Given the description of an element on the screen output the (x, y) to click on. 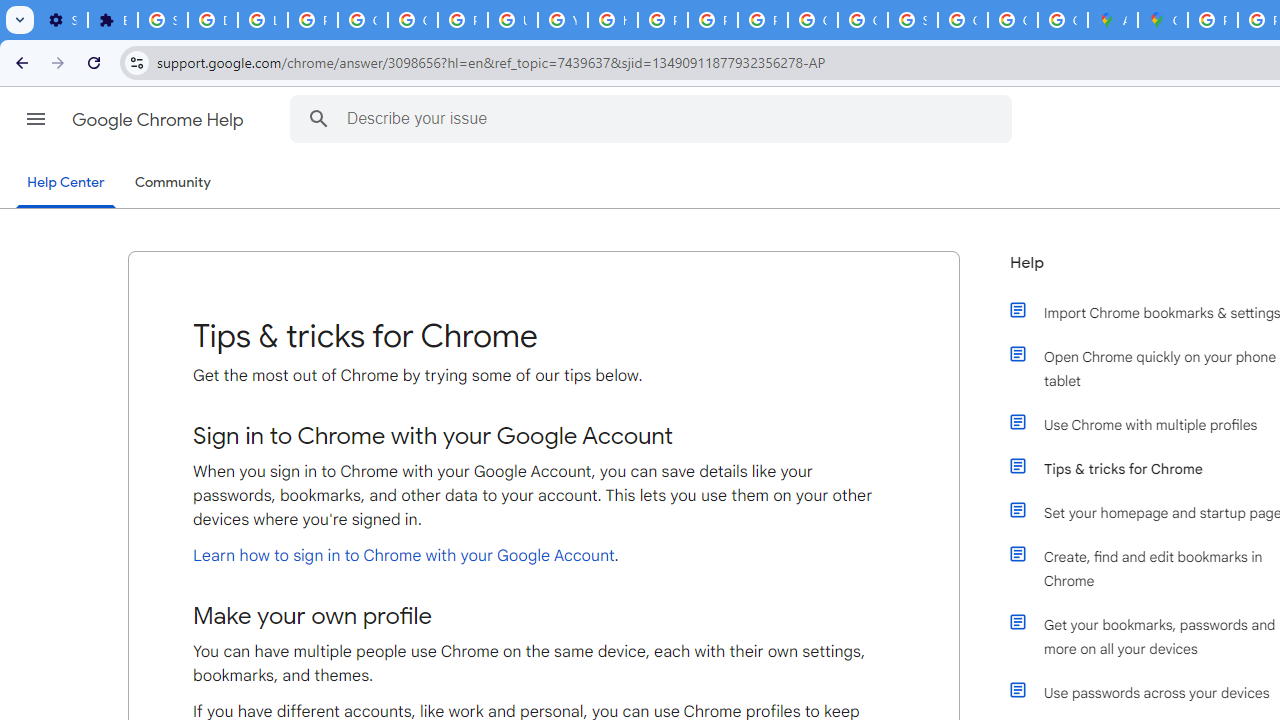
Learn how to sign in to Chrome with your Google Account (403, 555)
Search Help Center (318, 118)
Sign in - Google Accounts (913, 20)
Policy Accountability and Transparency - Transparency Center (1212, 20)
Create your Google Account (1062, 20)
Google Chrome Help (159, 119)
Help Center (65, 183)
